Given the description of an element on the screen output the (x, y) to click on. 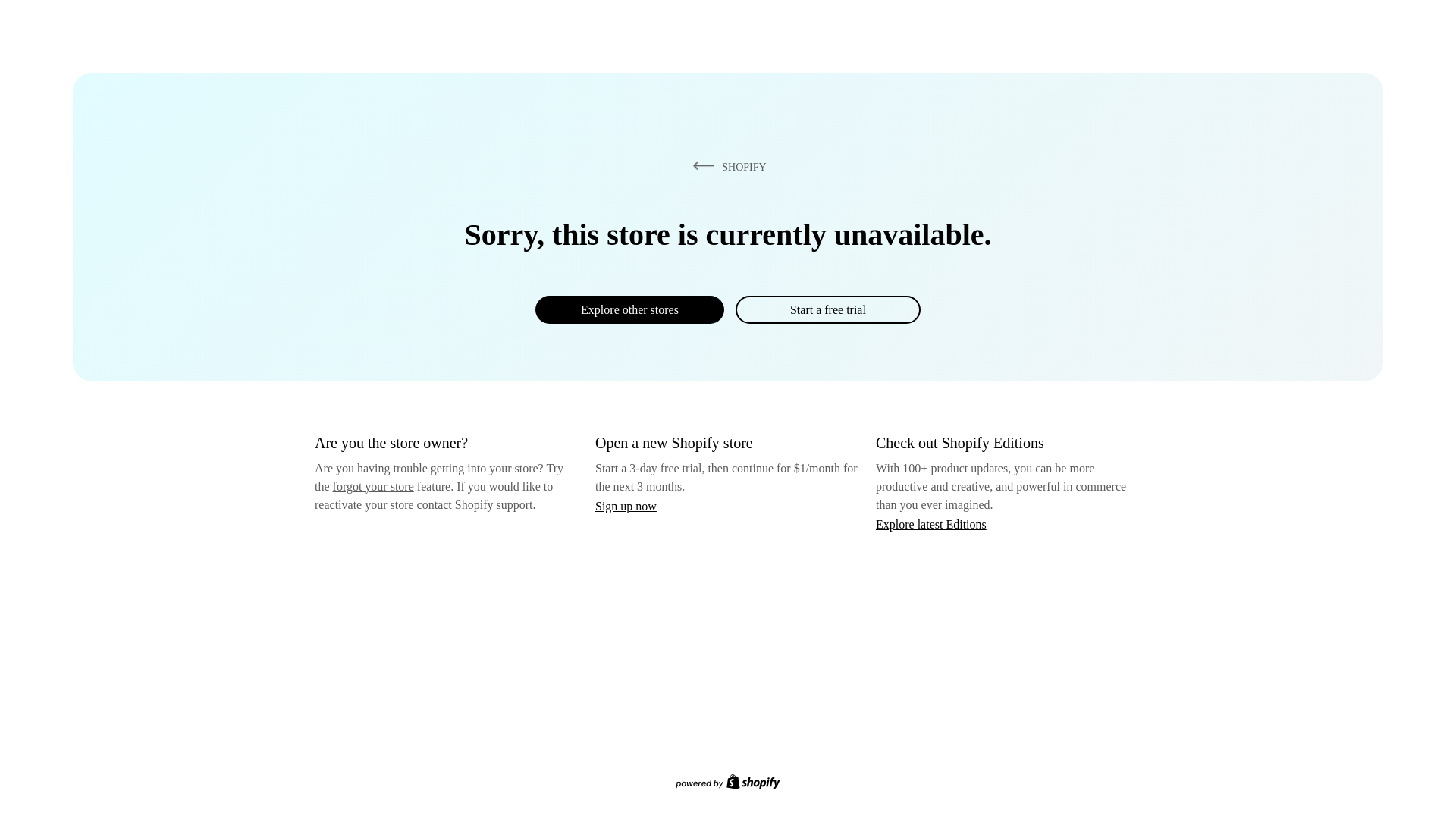
Start a free trial (827, 309)
forgot your store (373, 486)
Explore other stores (629, 309)
SHOPIFY (726, 166)
Explore latest Editions (931, 523)
Shopify support (493, 504)
Sign up now (625, 505)
